Given the description of an element on the screen output the (x, y) to click on. 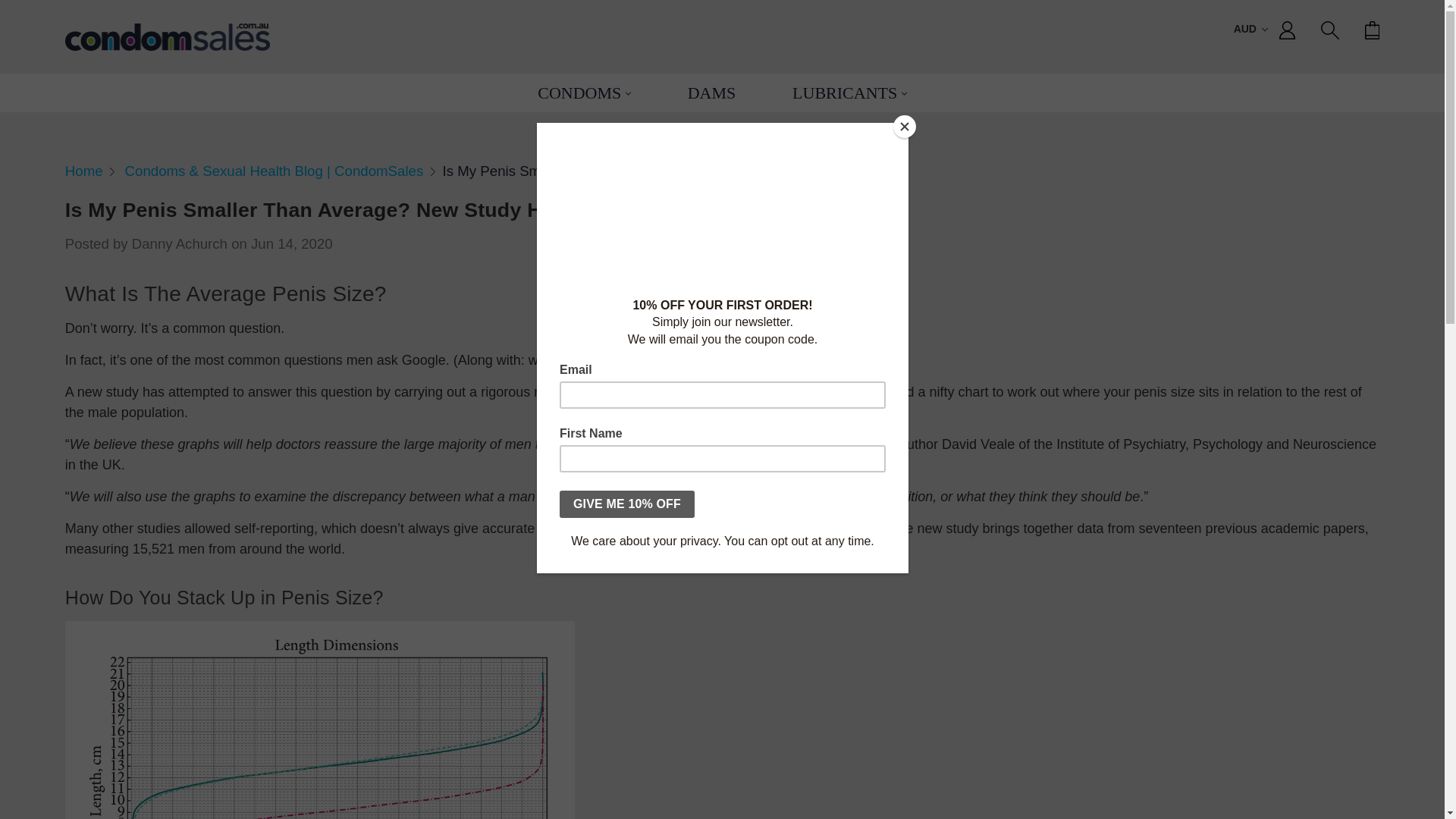
CONDOMS (584, 92)
CondomSales (167, 36)
AUD (1250, 30)
